Given the description of an element on the screen output the (x, y) to click on. 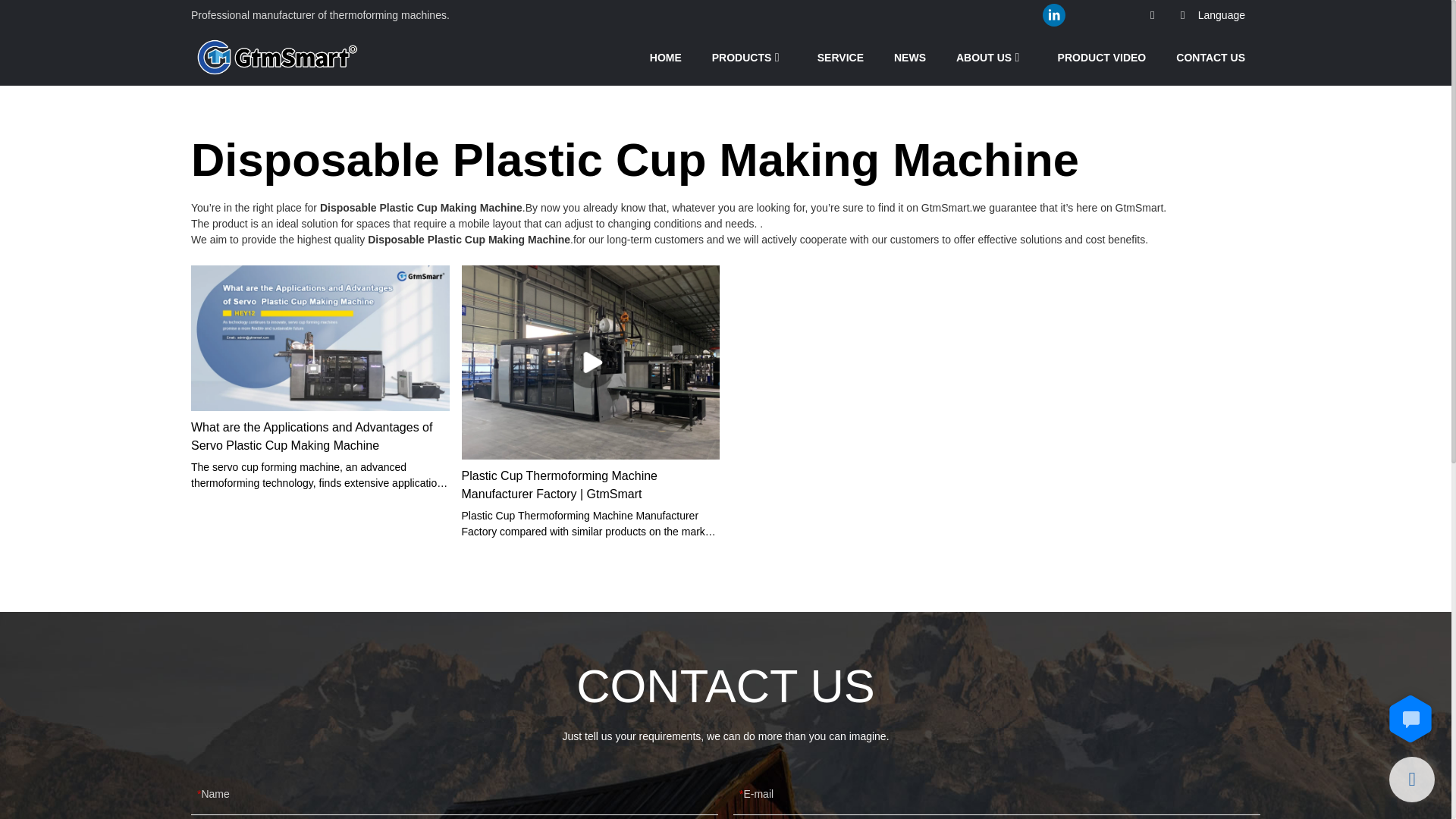
ABOUT US (983, 57)
PRODUCTS (741, 57)
PRODUCT VIDEO (1102, 57)
CONTACT US (1210, 57)
linkedin (1053, 15)
facebook (1024, 15)
pinterest (1083, 15)
NEWS (909, 57)
HOME (665, 57)
SERVICE (839, 57)
